Given the description of an element on the screen output the (x, y) to click on. 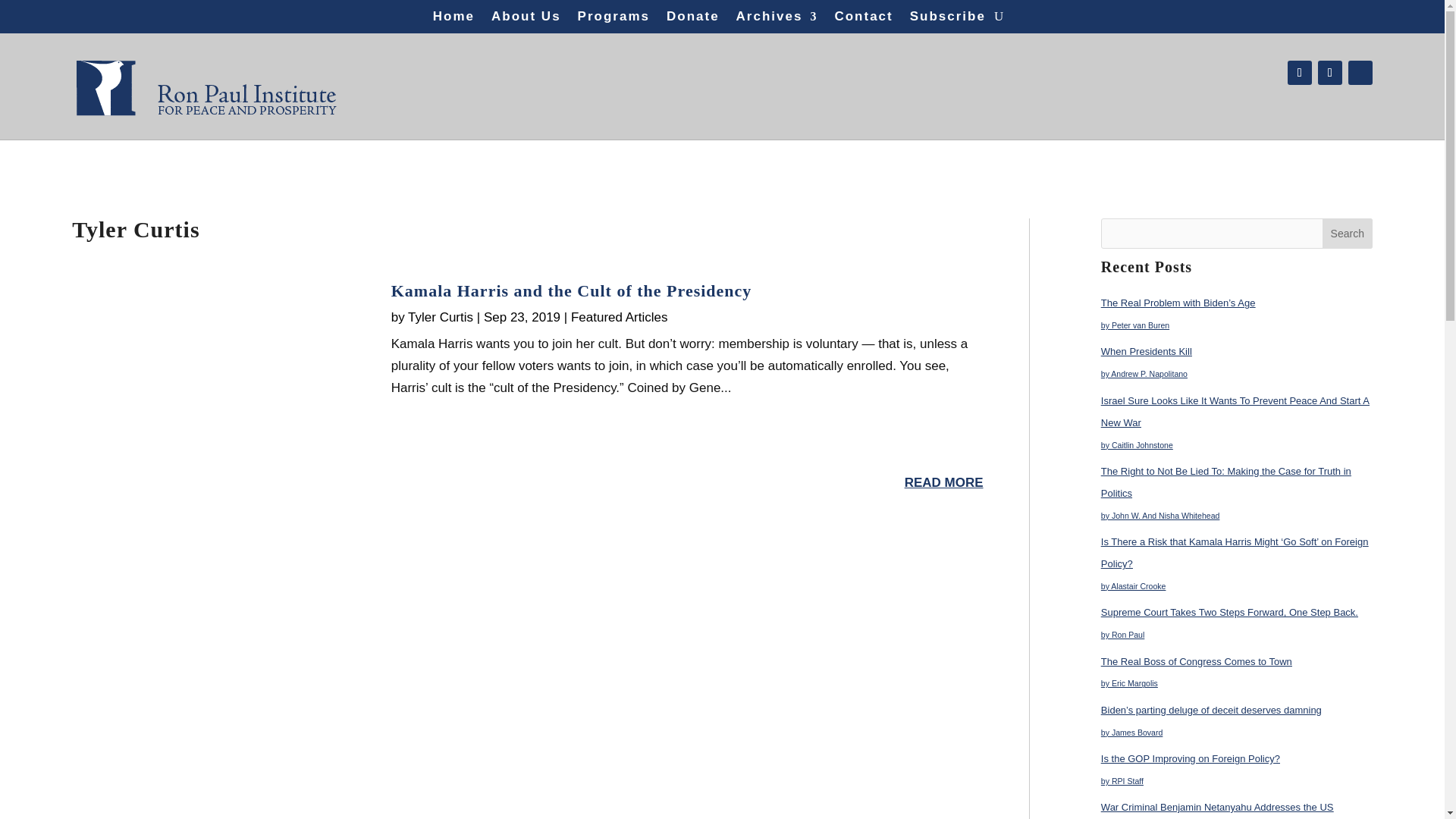
Follow on Facebook (1299, 72)
Search (1347, 233)
Contact (863, 19)
Kamala Harris and the Cult of the Presidency (571, 290)
When Presidents Kill (1146, 351)
Posts by Tyler Curtis (440, 317)
Tyler Curtis (440, 317)
Donate (692, 19)
